Given the description of an element on the screen output the (x, y) to click on. 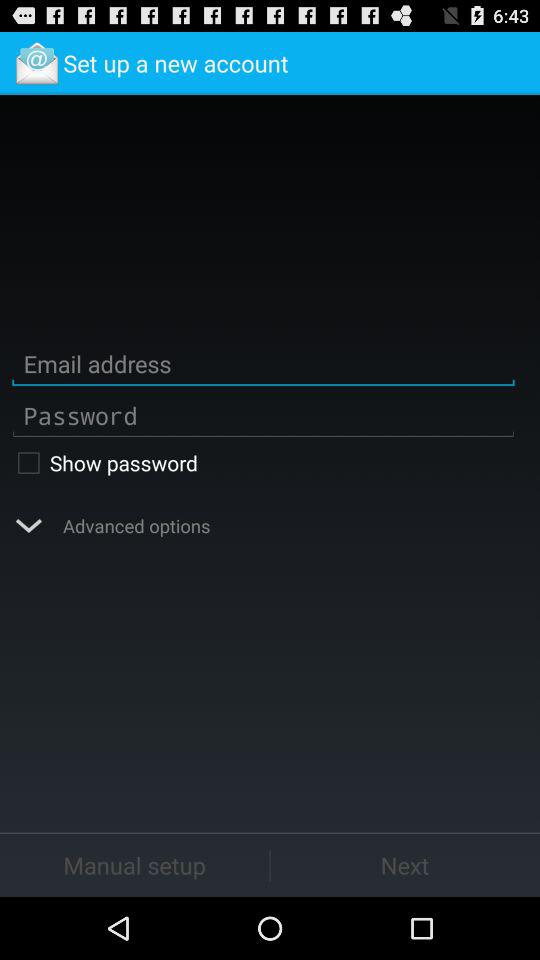
swipe to the next (405, 864)
